Given the description of an element on the screen output the (x, y) to click on. 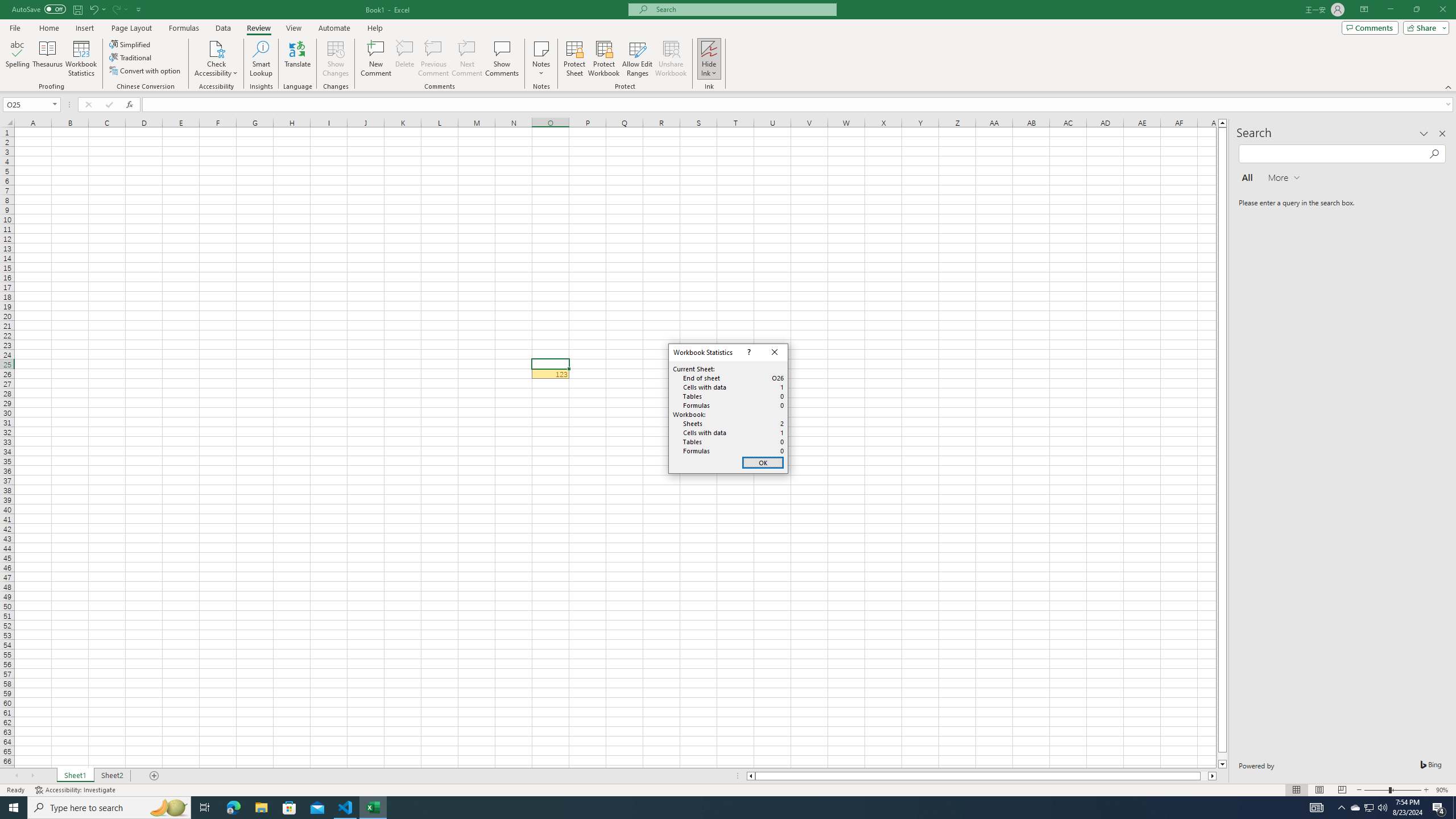
Type here to search (108, 807)
Smart Lookup (260, 58)
Check Accessibility (215, 58)
Page down (1222, 756)
Review (258, 28)
Column left (750, 775)
User Promoted Notification Area (1368, 807)
Redo (119, 9)
Column right (1212, 775)
Search highlights icon opens search home window (167, 807)
Q2790: 100% (1382, 807)
Minimize (1390, 9)
Hide Ink (708, 48)
Hide Ink (708, 58)
Protect Workbook... (603, 58)
